Given the description of an element on the screen output the (x, y) to click on. 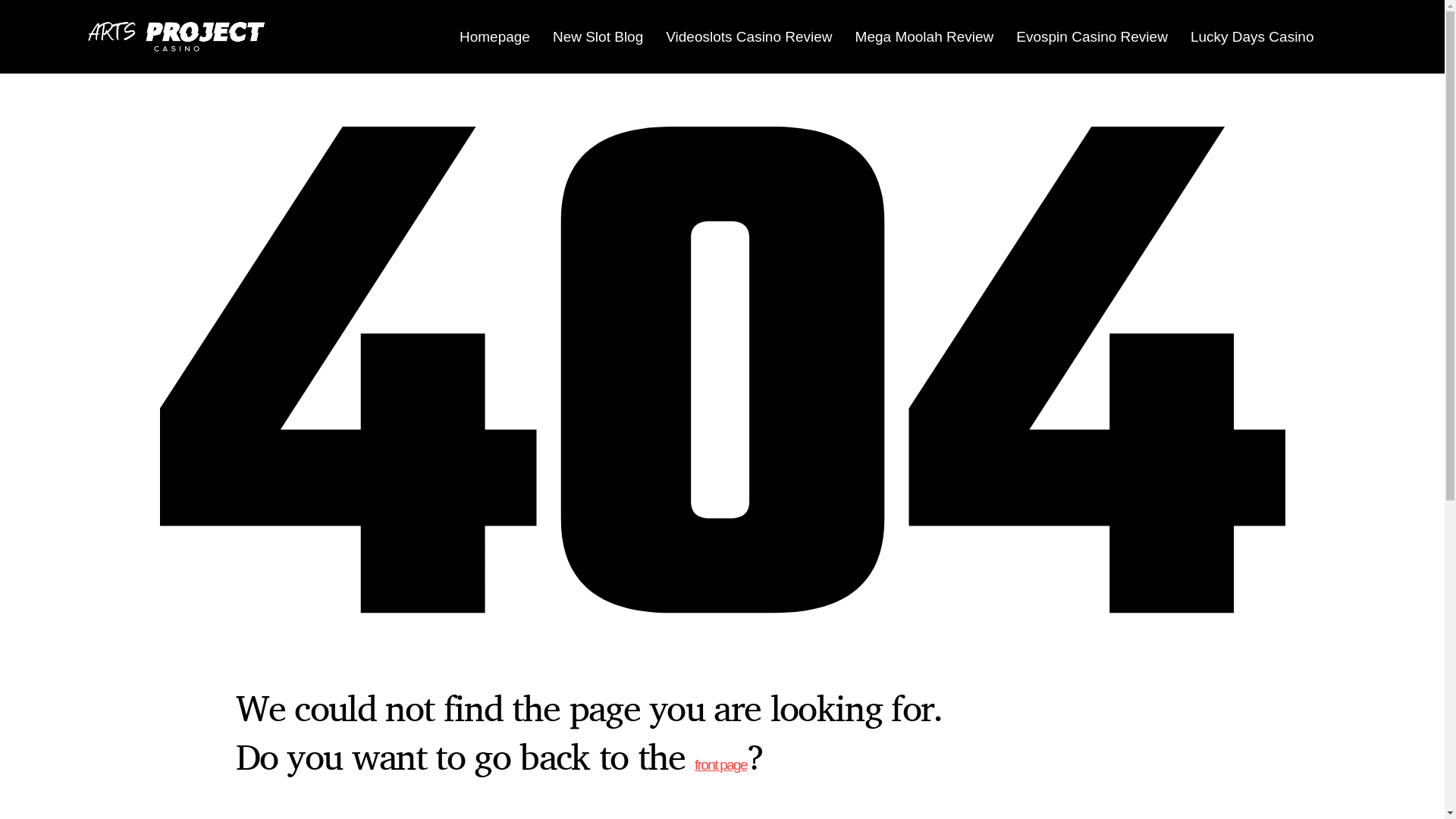
Casino Arts Project Element type: hover (179, 36)
New Slot Blog Element type: text (597, 35)
Mega Moolah Review Element type: text (924, 35)
Evospin Casino Review Element type: text (1091, 35)
Homepage Element type: text (494, 35)
Videoslots Casino Review Element type: text (748, 35)
Lucky Days Casino Element type: text (1252, 35)
front page Element type: text (720, 764)
